Given the description of an element on the screen output the (x, y) to click on. 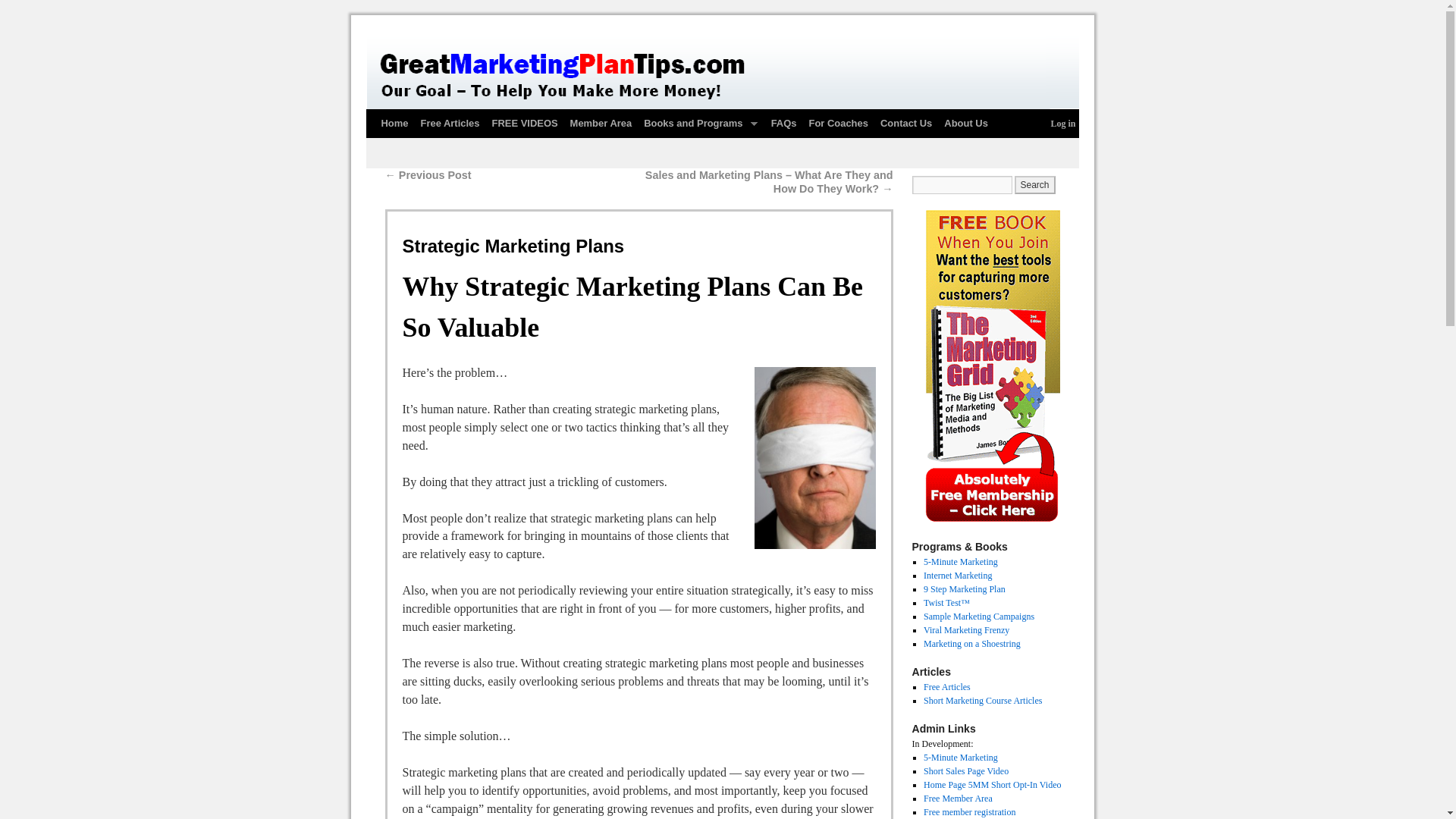
5-Minute Marketing (960, 561)
Search (1034, 185)
FAQs (784, 123)
Member Area (601, 123)
Internet Marketing (957, 575)
9 Step Marketing Plan (964, 588)
GreatMarketingPlanTips.com (721, 70)
Search (1034, 185)
Log in (1062, 122)
FREE VIDEOS (523, 123)
Home (393, 123)
Contact Us (906, 123)
About Us (965, 123)
For Coaches (837, 123)
Free Articles (448, 123)
